Given the description of an element on the screen output the (x, y) to click on. 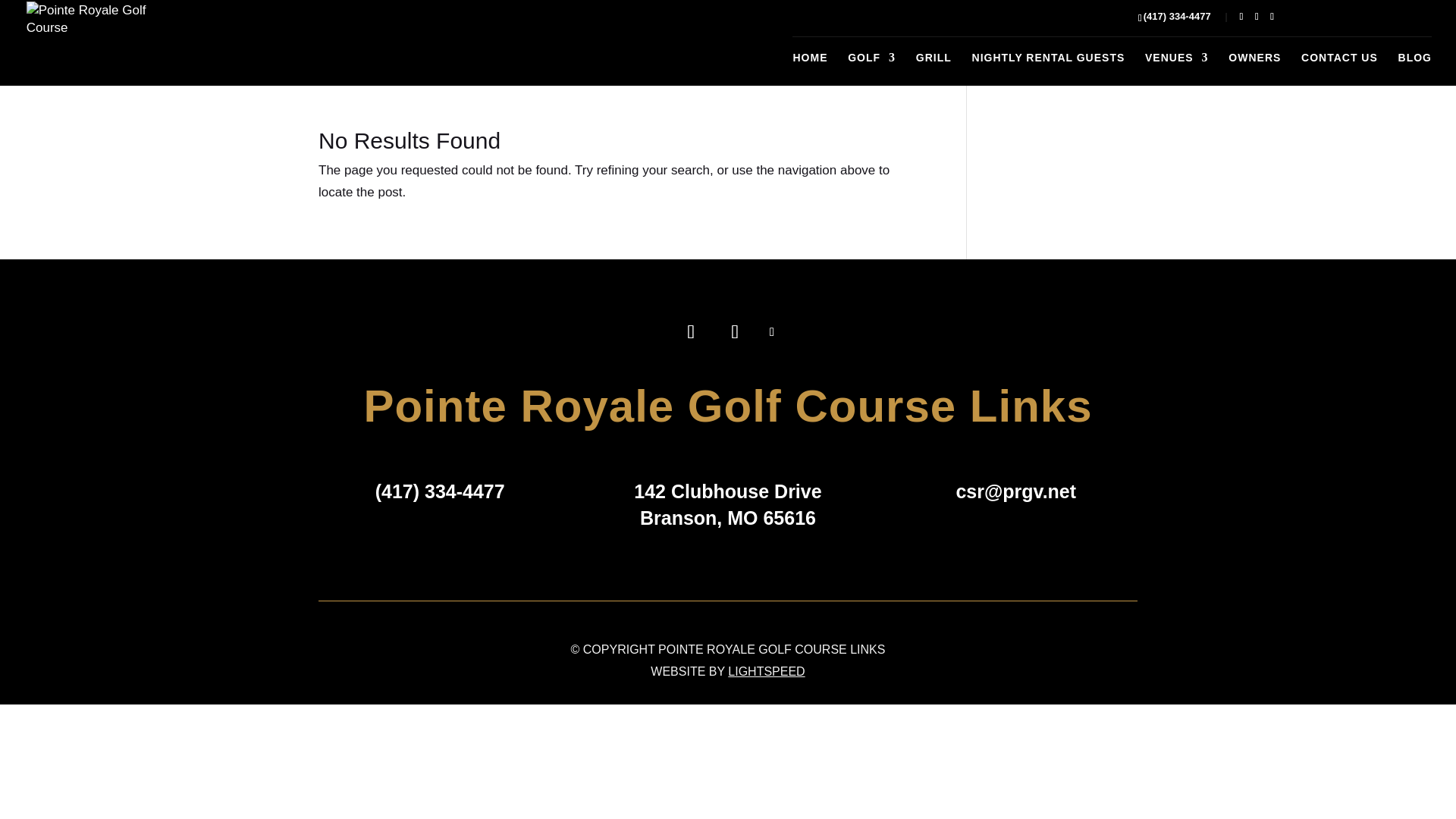
GOLF (871, 68)
Follow on Instagram (735, 331)
VENUES (1176, 68)
GRILL (933, 68)
OWNERS (1254, 68)
BLOG (1414, 68)
LIGHTSPEED (766, 671)
Follow on X (772, 331)
CONTACT US (1339, 68)
HOME (809, 68)
